Given the description of an element on the screen output the (x, y) to click on. 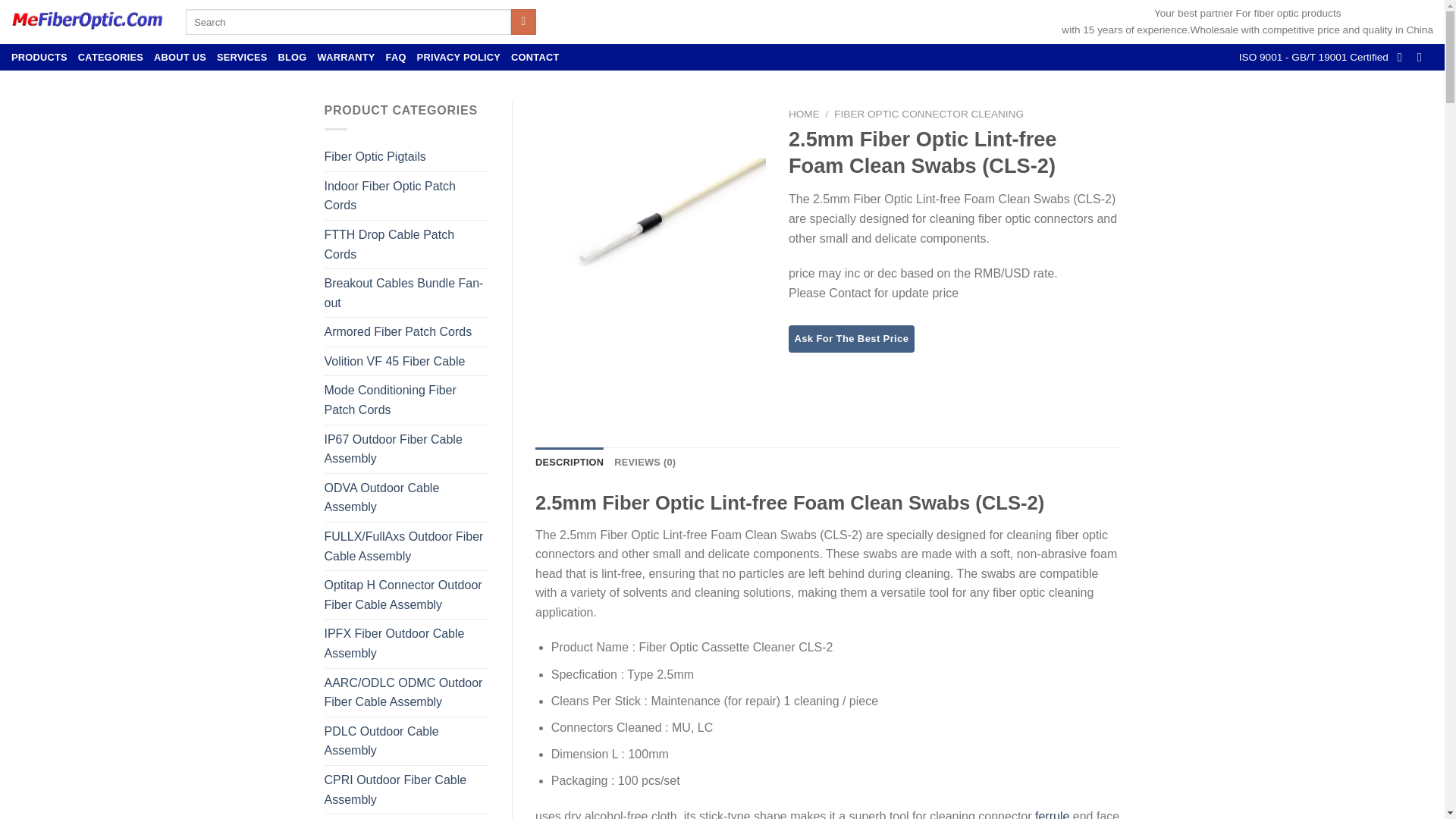
PRODUCTS (38, 57)
Volition VF 45 Fiber Cable (406, 361)
PDLC Outdoor Cable Assembly (406, 740)
ferrule (1051, 814)
ABOUT US (180, 57)
BLOG (292, 57)
Breakout Cables Bundle Fan-out (406, 292)
WARRANTY (346, 57)
Mode Conditioning Fiber Patch Cords (406, 399)
Ask For The Best Price (851, 338)
FTTH Drop Cable Patch Cords (406, 244)
PRIVACY POLICY (458, 57)
Armored Fiber Patch Cords (406, 331)
CATEGORIES (110, 57)
Fiber Optic Pigtails (406, 156)
